Given the description of an element on the screen output the (x, y) to click on. 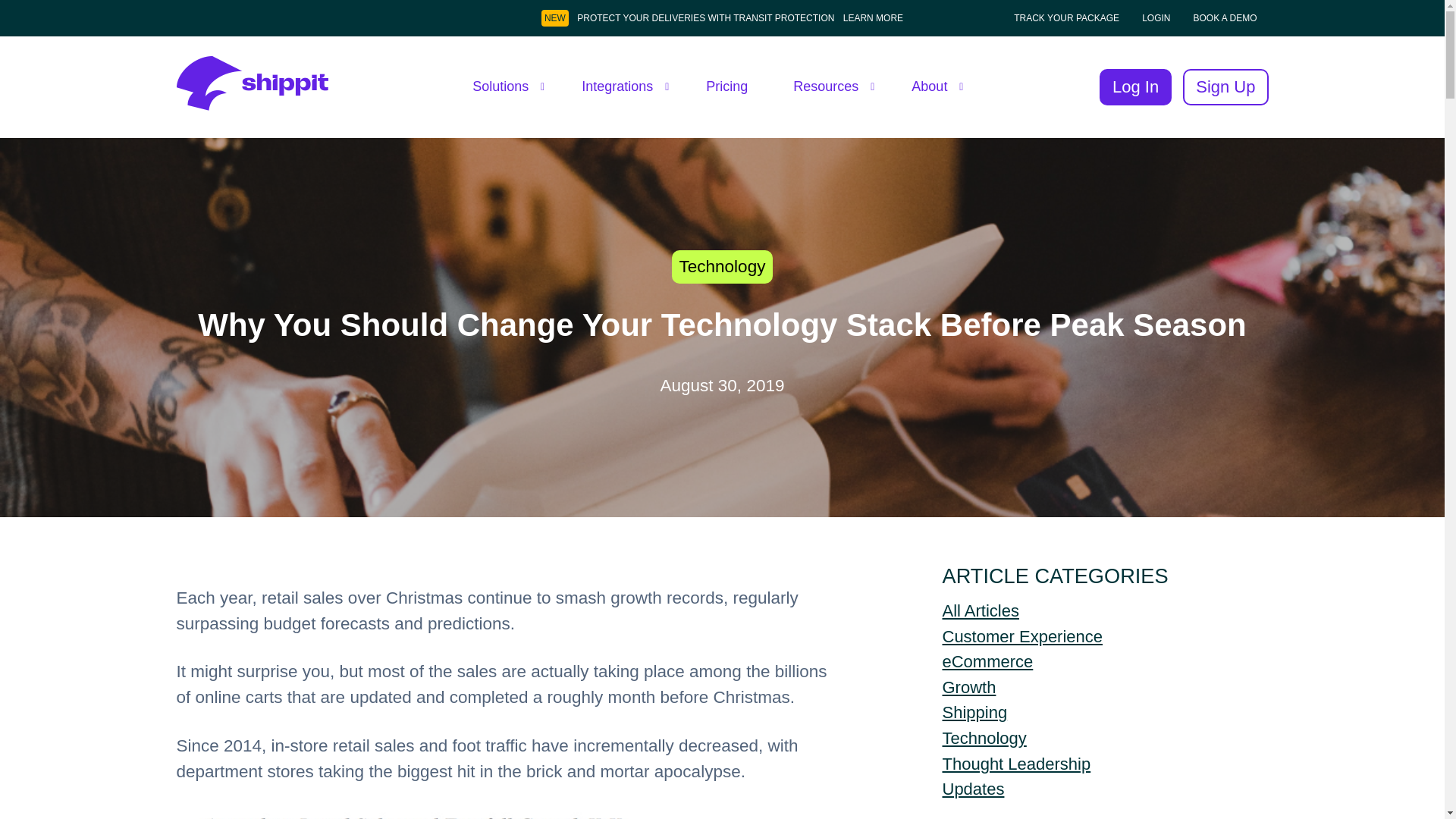
About (932, 86)
LOGIN (1156, 18)
Log In (1135, 86)
All Articles (979, 610)
Customer Experience (1022, 636)
Integrations (620, 86)
Resources (829, 86)
TRACK YOUR PACKAGE (1067, 18)
Pricing (726, 86)
Solutions (504, 86)
Sign Up (1225, 86)
BOOK A DEMO (1225, 18)
LEARN MORE (872, 18)
